Given the description of an element on the screen output the (x, y) to click on. 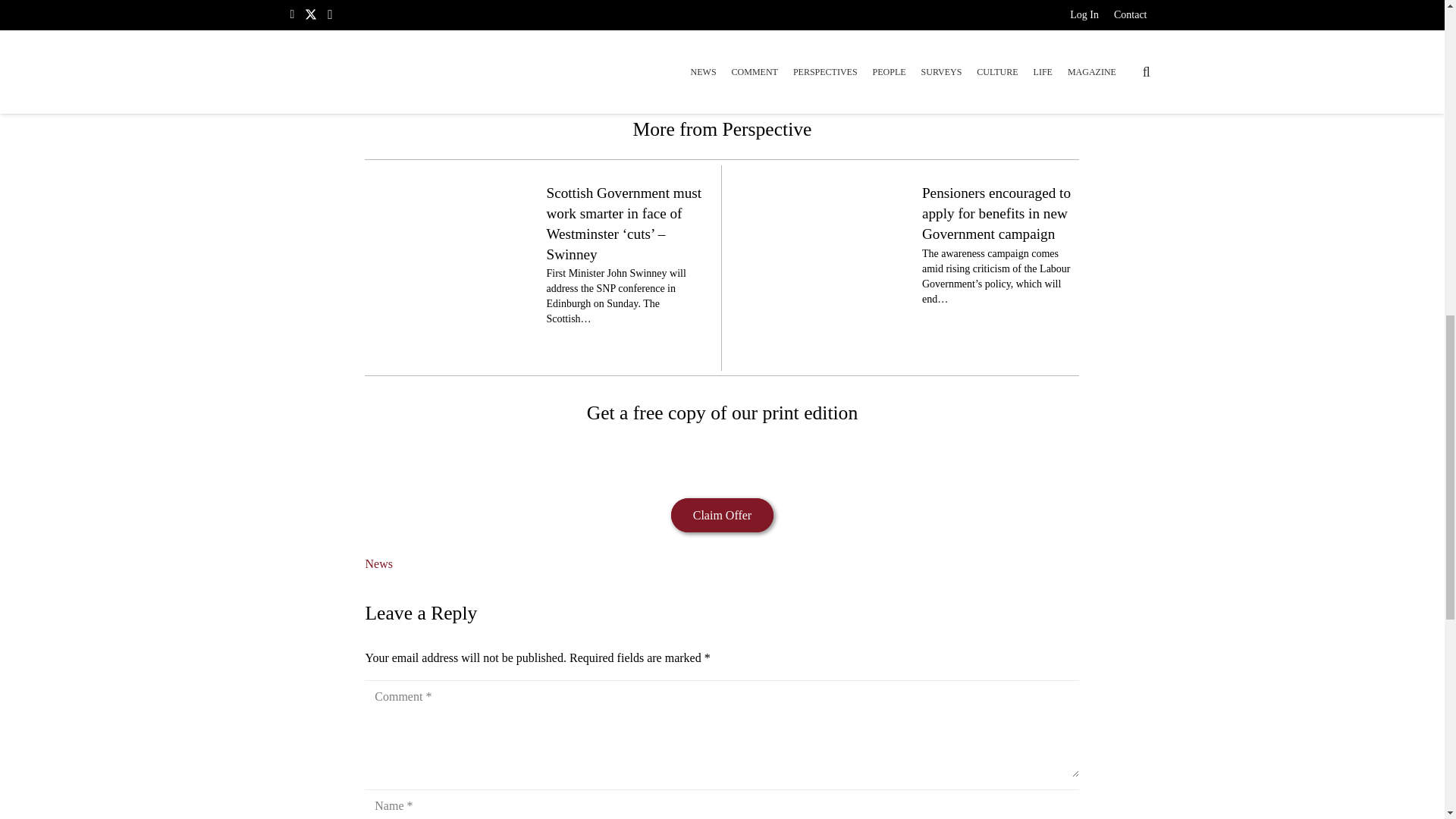
Share this (667, 67)
Back to top (1413, 26)
Email this (630, 67)
Share this (740, 67)
Claim Offer (722, 514)
News (378, 563)
Tweet this (703, 67)
Share this (776, 67)
Share this (812, 67)
